Given the description of an element on the screen output the (x, y) to click on. 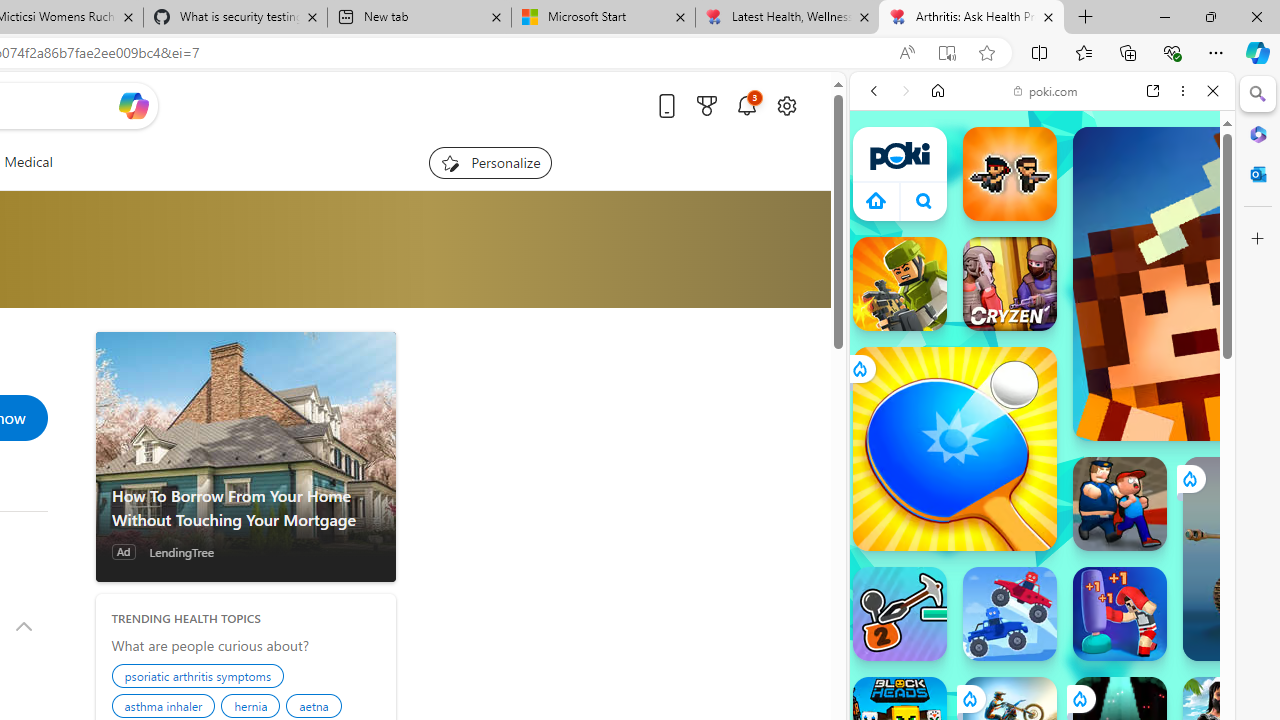
Ping Pong Go! (954, 448)
Io Games (1042, 617)
Two Player Games (1042, 568)
Car Games (1042, 470)
Class: B_5ykBA46kDOxiz_R9wm (923, 200)
